Given the description of an element on the screen output the (x, y) to click on. 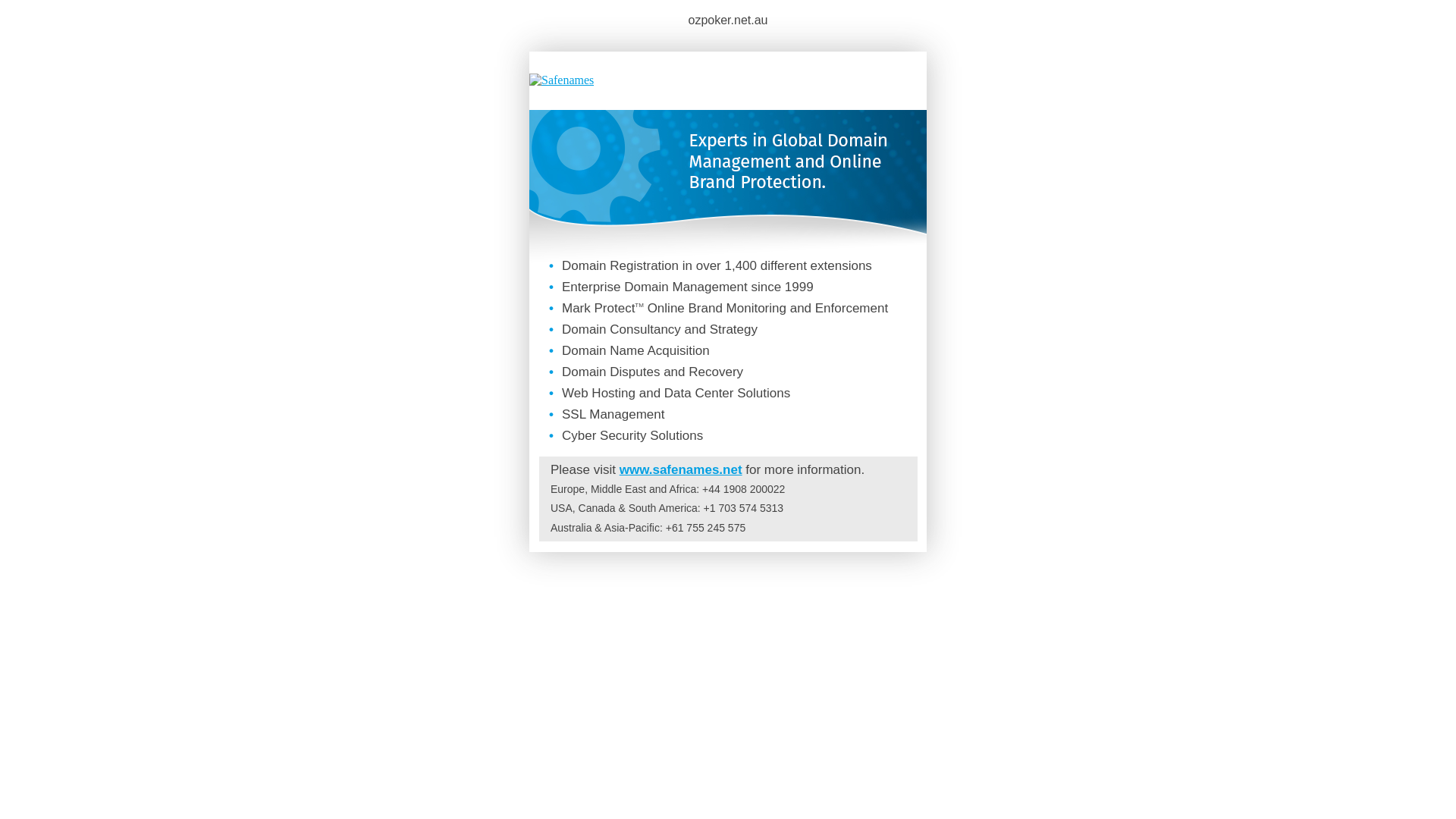
www.safenames.net Element type: text (680, 469)
